Given the description of an element on the screen output the (x, y) to click on. 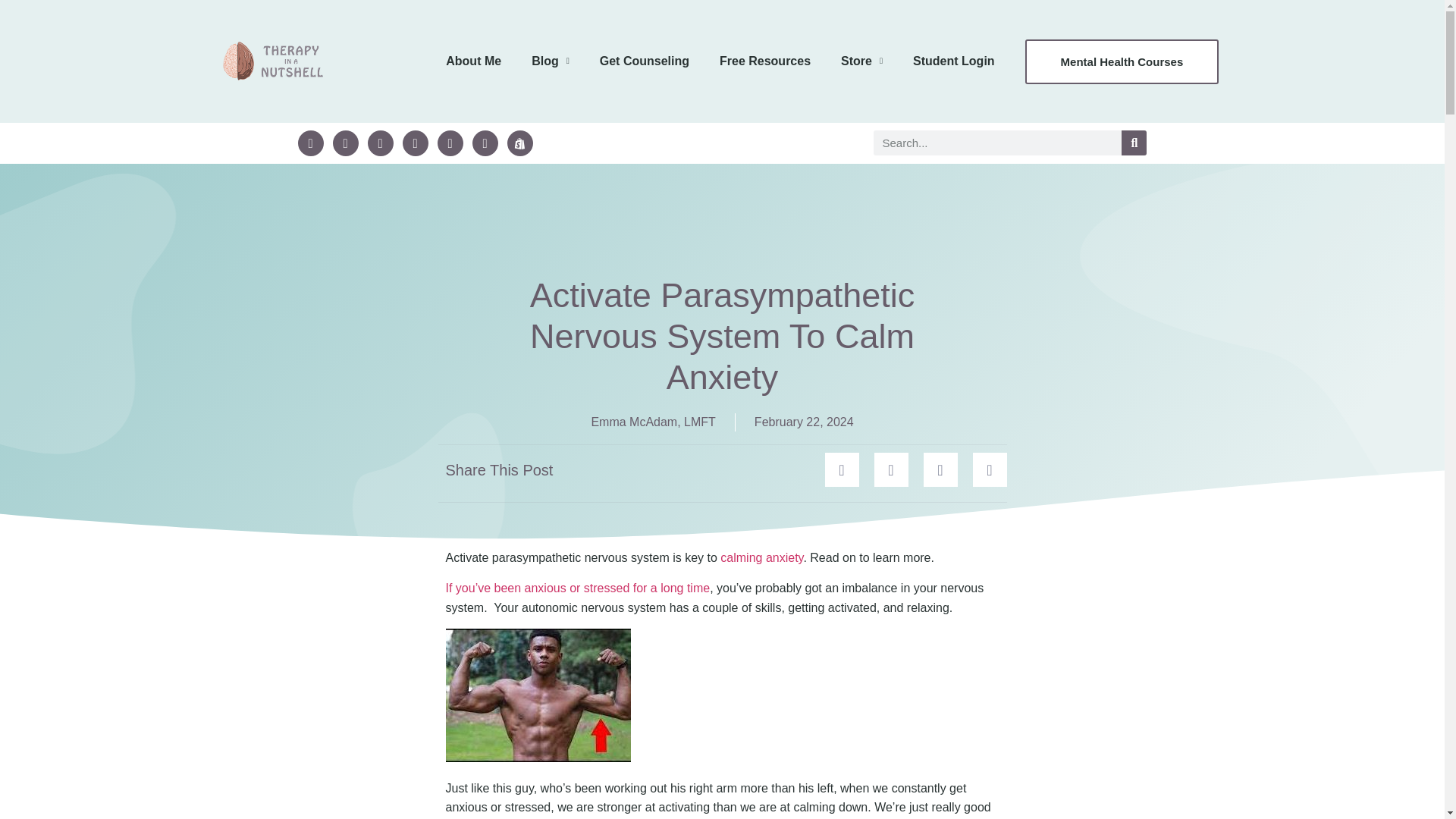
Blog (550, 61)
About Me (473, 61)
Search (1134, 142)
Search (997, 142)
Student Login (954, 61)
Get Counseling (644, 61)
Store (861, 61)
Free Resources (764, 61)
